Given the description of an element on the screen output the (x, y) to click on. 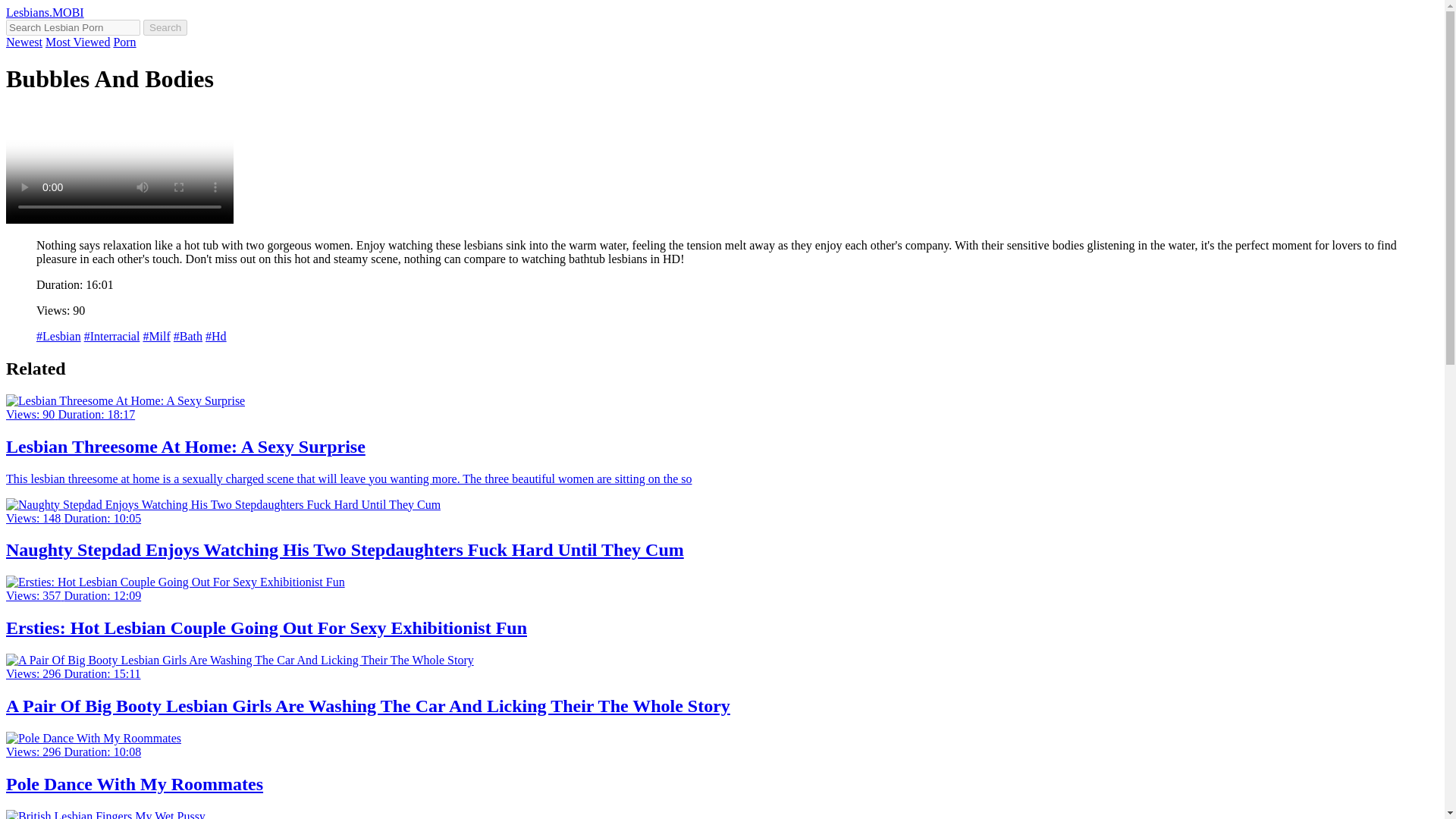
Interracial (111, 336)
Bath (187, 336)
Lesbians.MOBI (44, 11)
Most Viewed (77, 42)
Search (164, 27)
Watch Lesbian Porns (44, 11)
Porn (124, 42)
Most Viewed (77, 42)
Newest (23, 42)
Hd (216, 336)
